Given the description of an element on the screen output the (x, y) to click on. 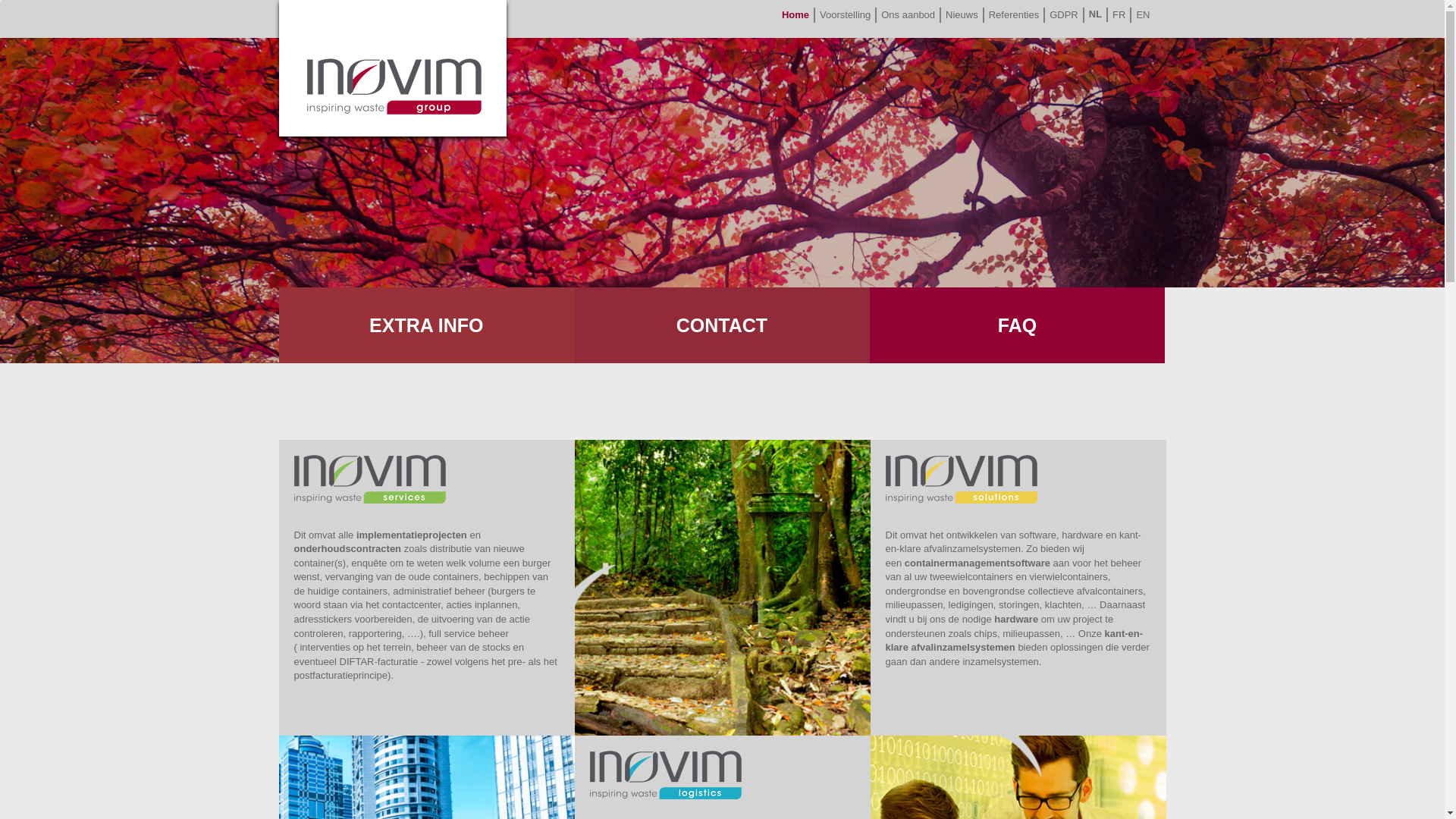
Nieuws Element type: text (962, 14)
EXTRA INFO Element type: text (426, 325)
CONTACT Element type: text (721, 325)
GDPR Element type: text (1064, 14)
Referenties Element type: text (1014, 14)
EN Element type: text (1142, 14)
FR Element type: text (1119, 14)
Ons aanbod Element type: text (908, 14)
Voorstelling Element type: text (845, 14)
FAQ Element type: text (1017, 325)
Home Element type: text (796, 14)
